Given the description of an element on the screen output the (x, y) to click on. 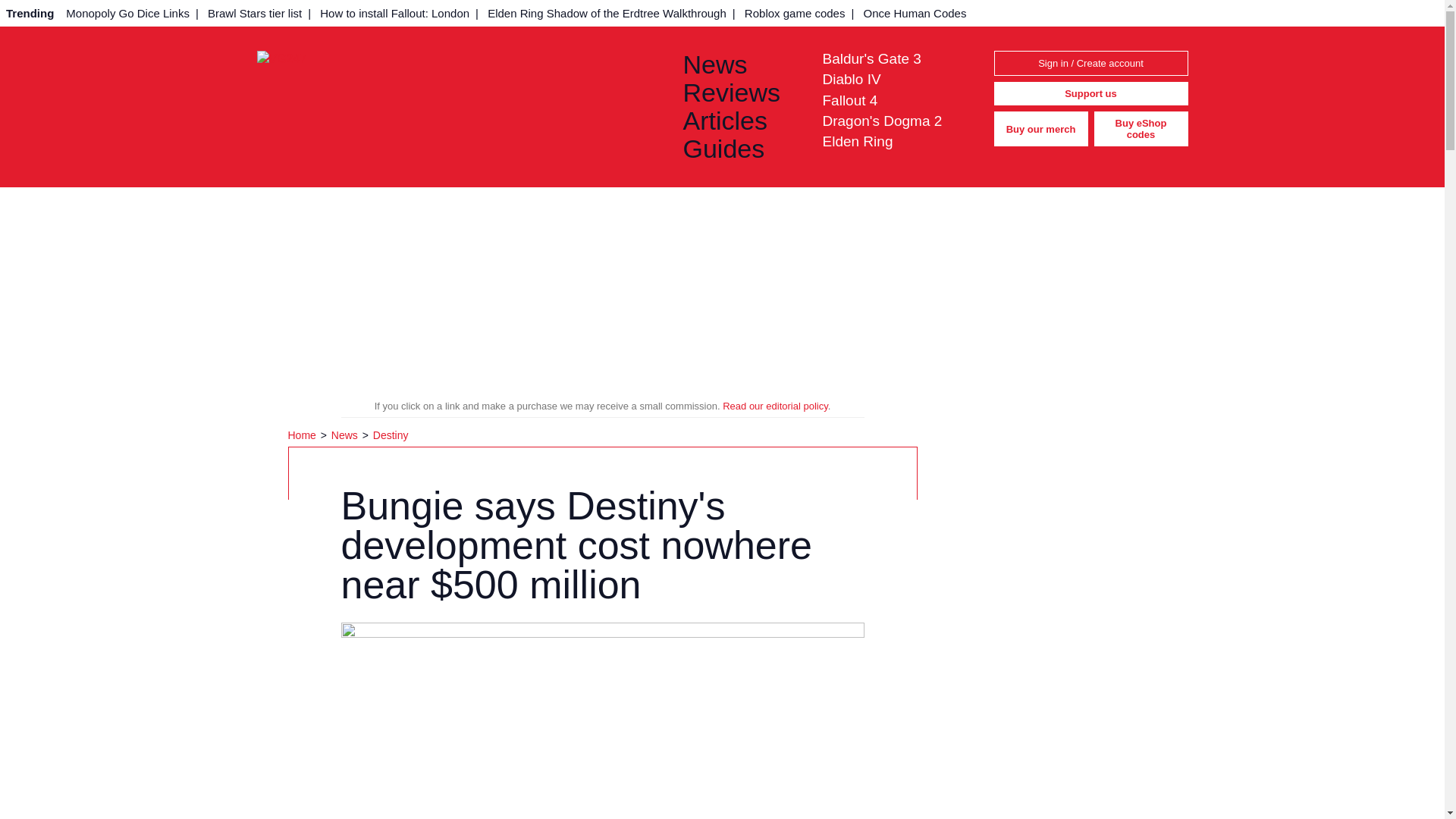
How to install Fallout: London (395, 13)
Reviews (739, 92)
Brawl Stars tier list (254, 13)
Fallout 4 (849, 100)
News (739, 64)
Home (303, 435)
Buy eShop codes (1140, 128)
Guides (739, 148)
News (739, 64)
Destiny (390, 435)
Elden Ring Shadow of the Erdtree Walkthrough (606, 13)
Articles (739, 121)
Baldur's Gate 3 (871, 58)
Guides (739, 148)
Read our editorial policy (775, 405)
